Given the description of an element on the screen output the (x, y) to click on. 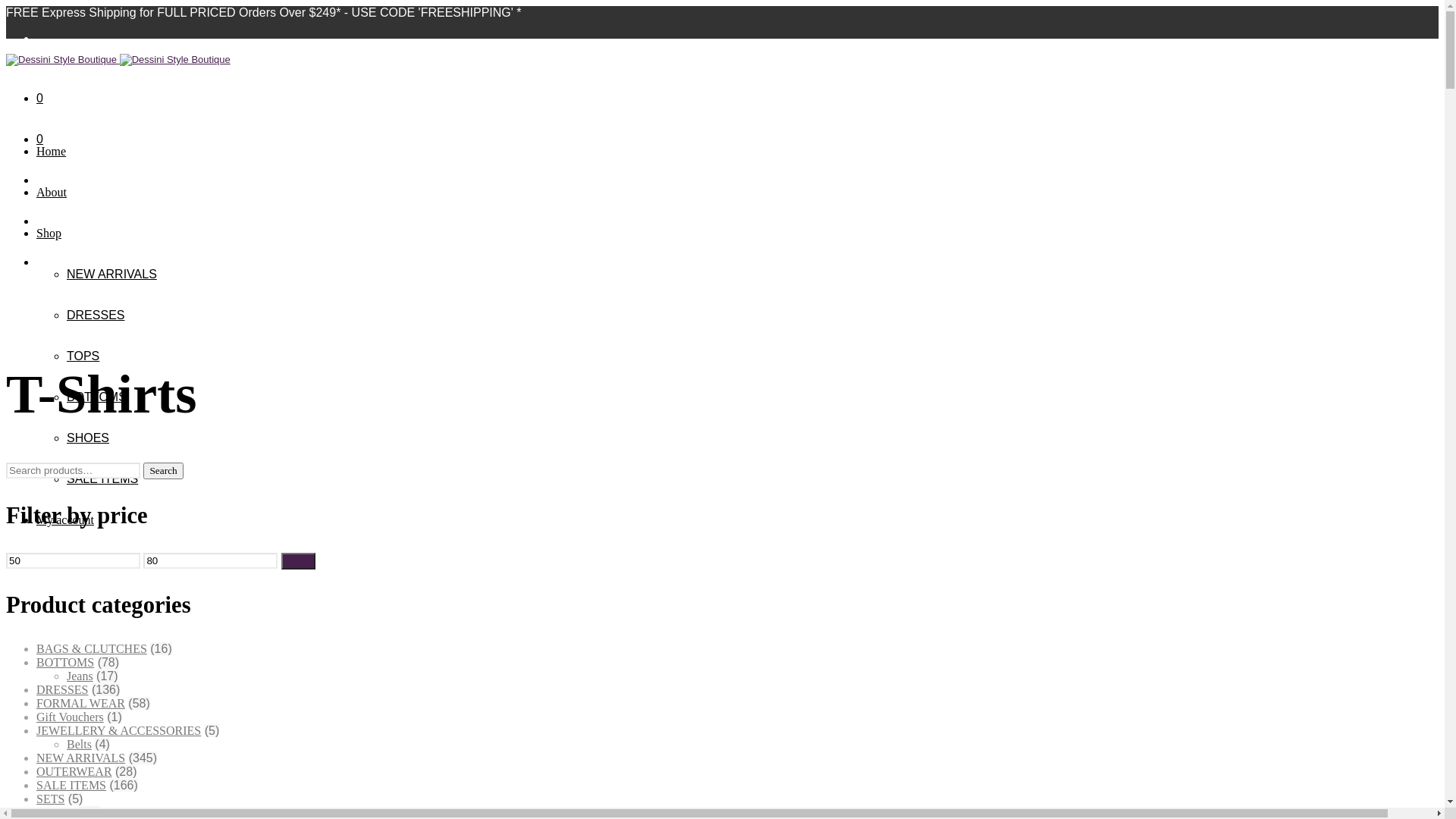
Search Element type: text (162, 470)
NEW ARRIVALS Element type: text (111, 273)
BOTTOMS Element type: text (65, 661)
Home Element type: text (50, 150)
NEW ARRIVALS Element type: text (80, 757)
TOPS Element type: text (82, 355)
SALE ITEMS Element type: text (71, 784)
Gift Vouchers Element type: text (69, 716)
JEWELLERY & ACCESSORIES Element type: text (118, 730)
My account Element type: text (65, 519)
DRESSES Element type: text (95, 314)
Belts Element type: text (78, 743)
About Element type: text (51, 191)
OUTERWEAR Element type: text (74, 771)
FORMAL WEAR Element type: text (80, 702)
Contact & Hours Element type: text (77, 560)
SALE ITEMS Element type: text (102, 478)
BAGS & CLUTCHES Element type: text (91, 648)
SHOES Element type: text (87, 437)
Filter Element type: text (298, 560)
SETS Element type: text (50, 798)
Jeans Element type: text (79, 675)
BOTTOMS Element type: text (96, 396)
Shop Element type: text (48, 232)
DRESSES Element type: text (61, 689)
0 Element type: text (39, 138)
0 Element type: text (39, 97)
